Given the description of an element on the screen output the (x, y) to click on. 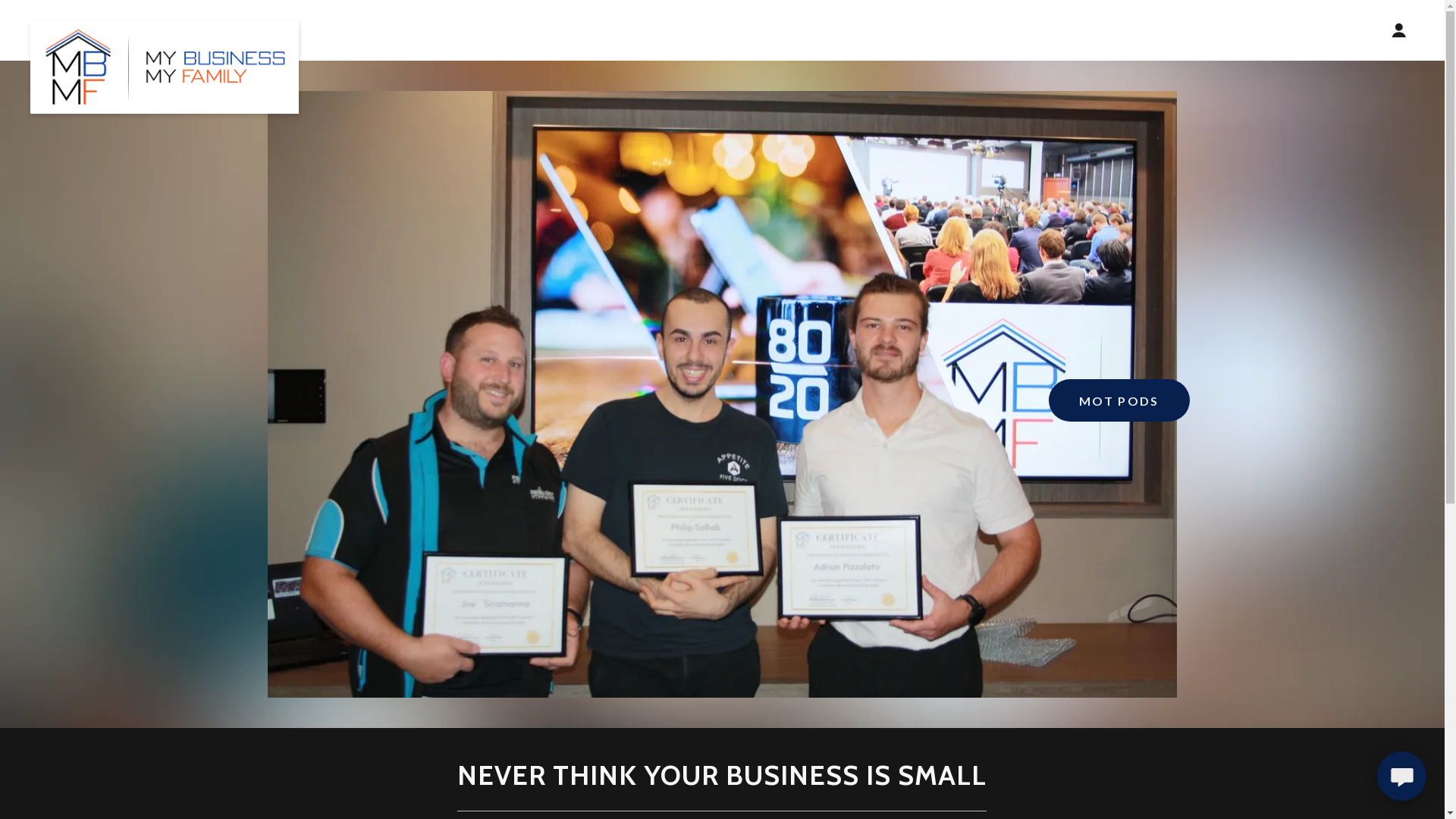
MOT PODS Element type: text (1118, 400)
My Business  My Family Element type: hover (164, 27)
